Given the description of an element on the screen output the (x, y) to click on. 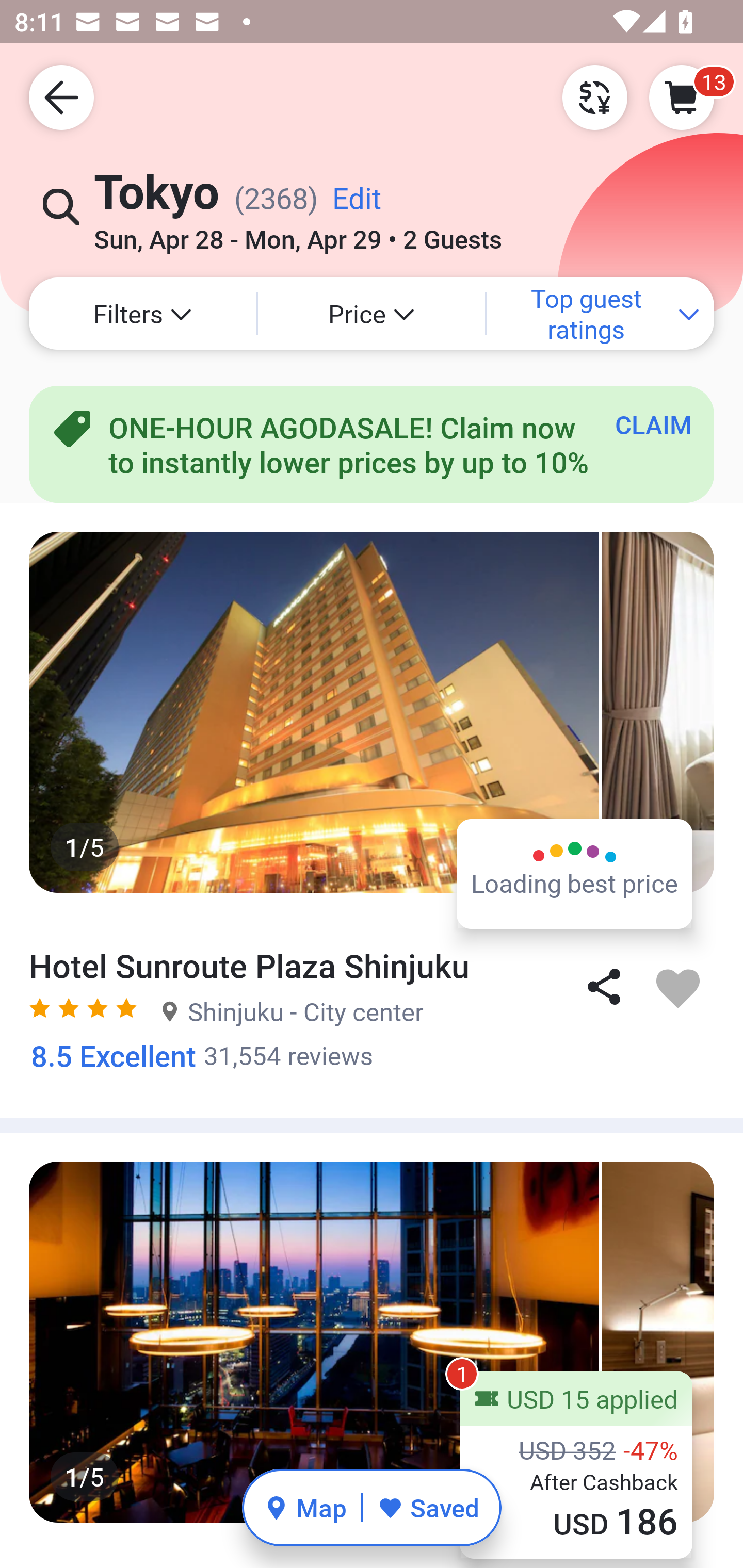
Filters (141, 313)
Price (371, 313)
Top guest ratings (600, 313)
CLAIM (653, 424)
1/5 (371, 711)
Loading best price (574, 873)
1/5 (371, 1341)
Map (305, 1507)
Saved (428, 1507)
